Given the description of an element on the screen output the (x, y) to click on. 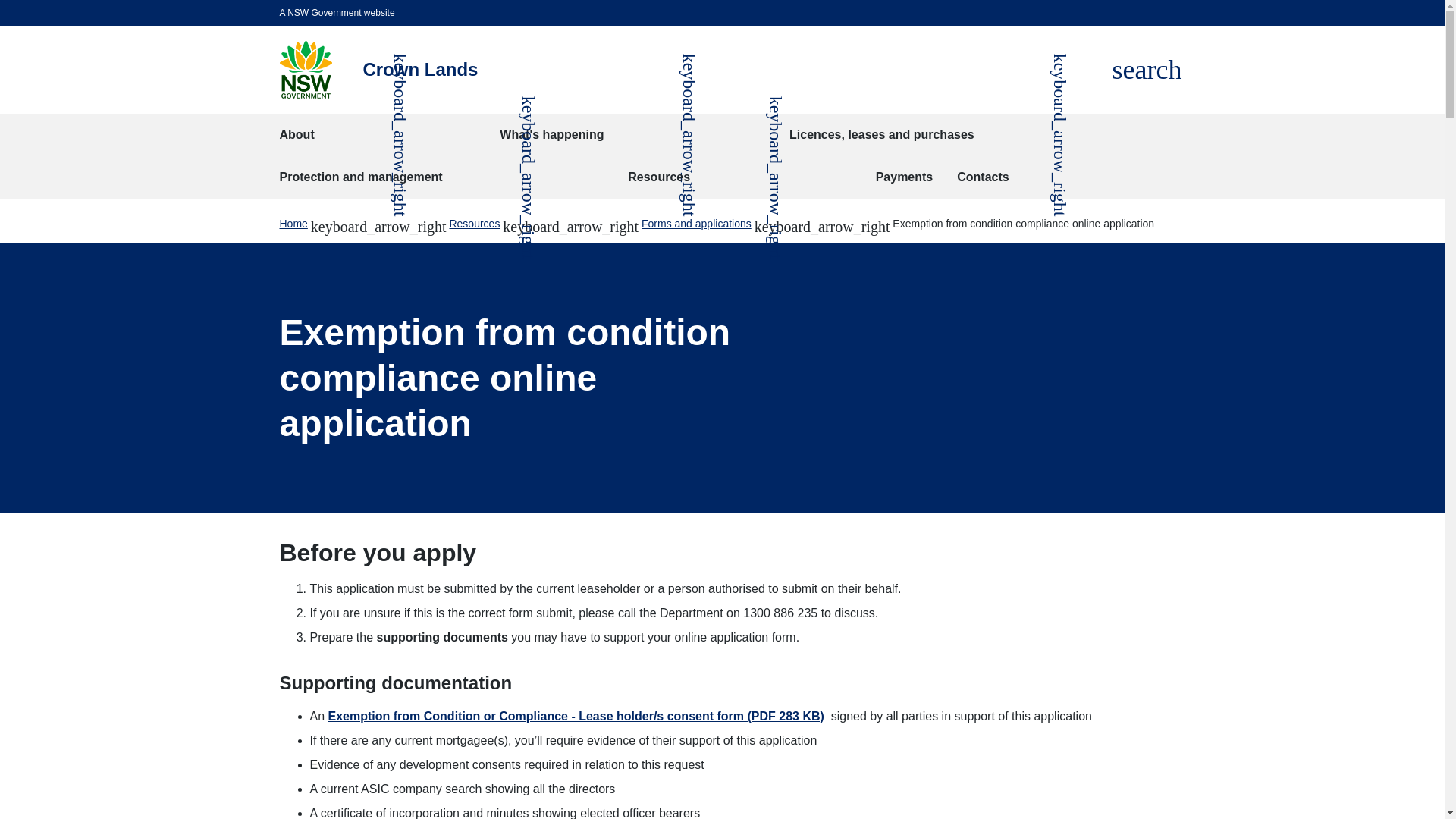
Crown Lands (419, 69)
Crown Lands (1146, 69)
